Given the description of an element on the screen output the (x, y) to click on. 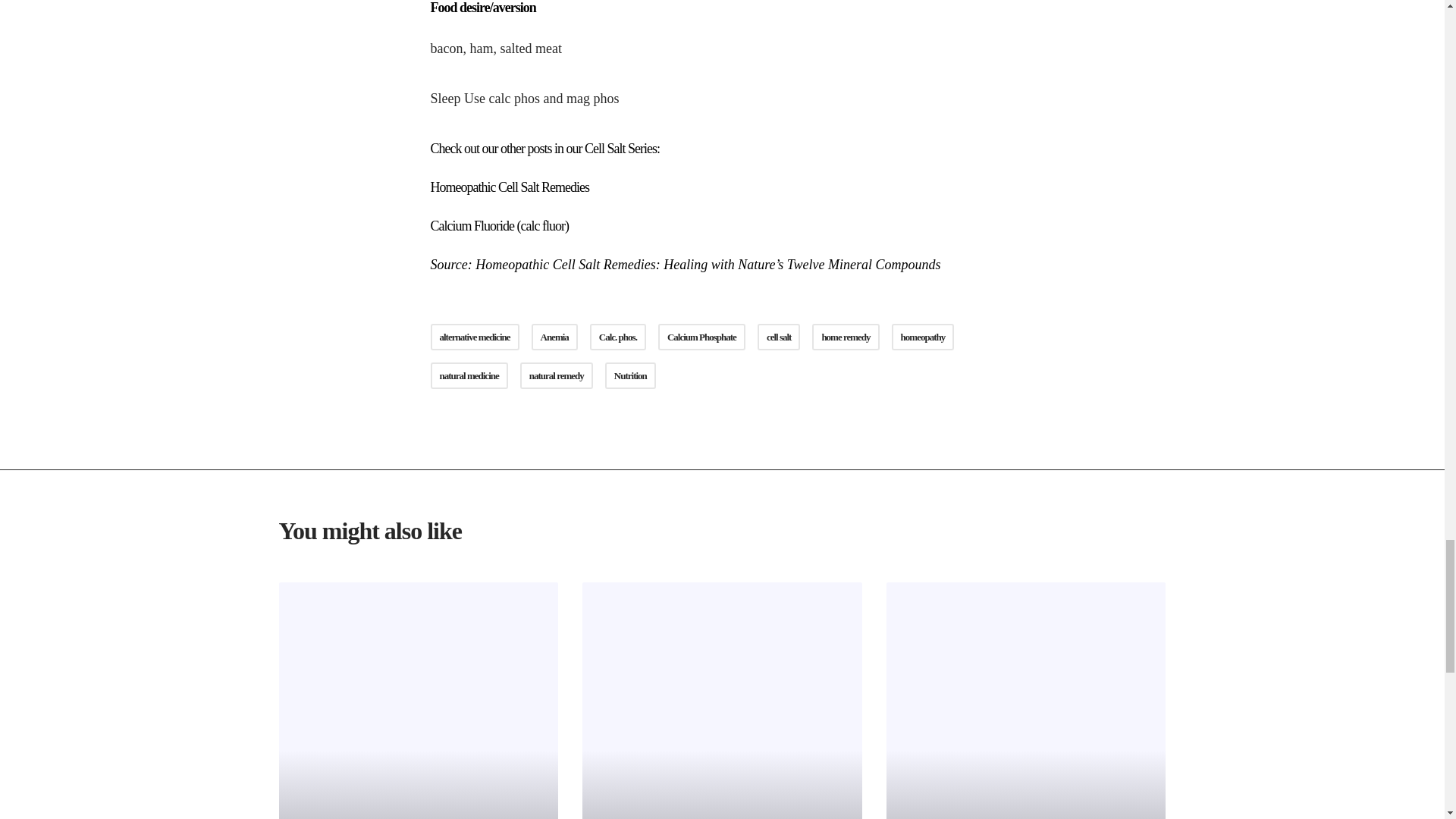
Calc. phos. (617, 336)
Calcium Phosphate (701, 336)
Anemia (553, 336)
home remedy (845, 336)
natural remedy (555, 375)
Fruit removes mucus out of the body. (1026, 700)
Dietary Dangers (419, 700)
natural medicine (469, 375)
homeopathy (923, 336)
Vitamin C as a Supplement to Prevent Illness (721, 700)
